Given the description of an element on the screen output the (x, y) to click on. 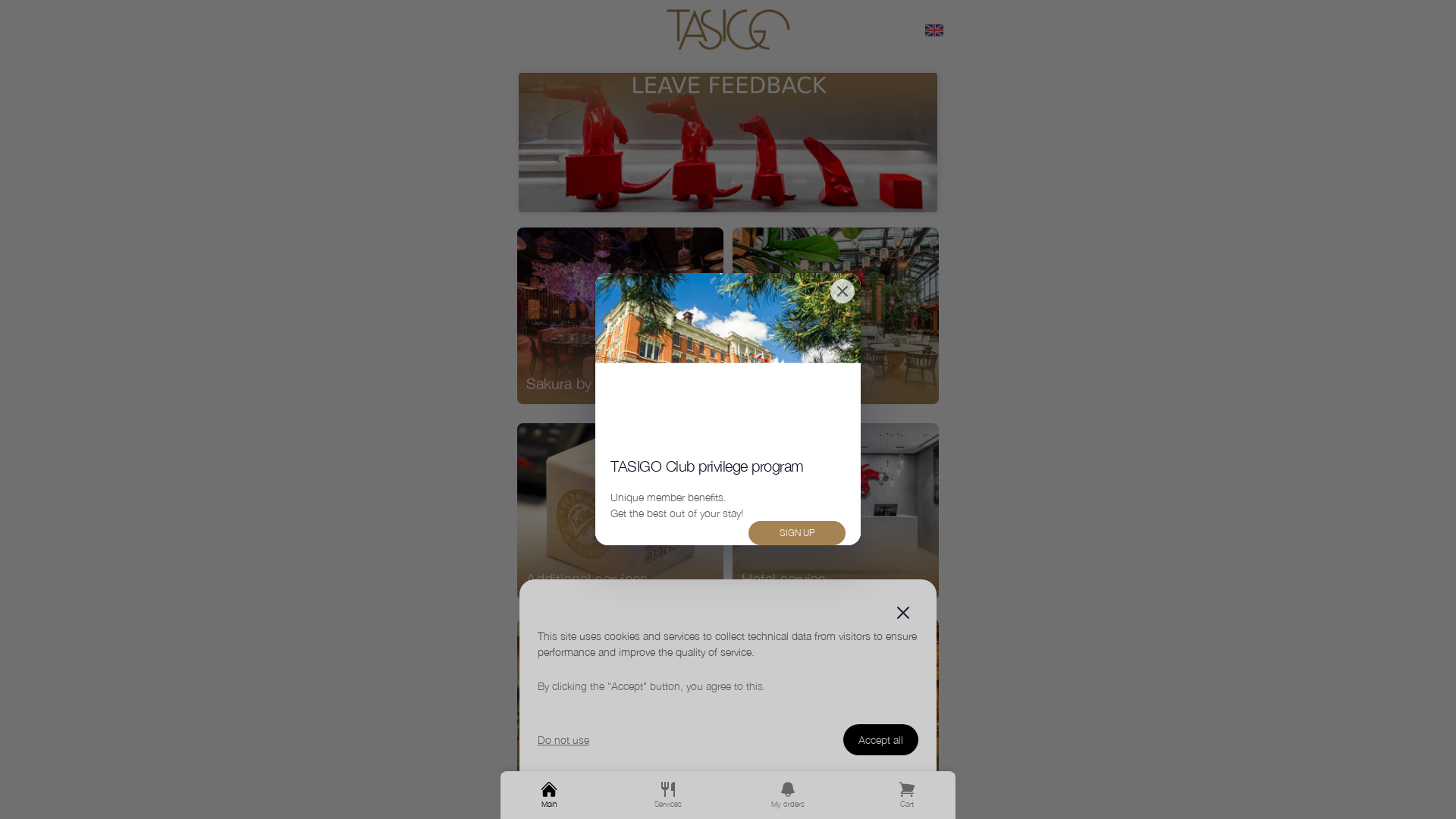
Kazanda Lounge Element type: text (835, 315)
Services Element type: text (668, 794)
My orders Element type: text (787, 794)
Cart Element type: text (907, 794)
SPA Element type: text (620, 706)
Main Element type: text (548, 794)
Do not use Element type: text (563, 739)
Additional services Element type: text (620, 511)
Sakura by TASIGO Element type: text (620, 315)
GoYoga Element type: text (835, 706)
Hotel service Element type: text (835, 511)
Accept all Element type: text (880, 739)
SIGN UP Element type: text (796, 532)
